Given the description of an element on the screen output the (x, y) to click on. 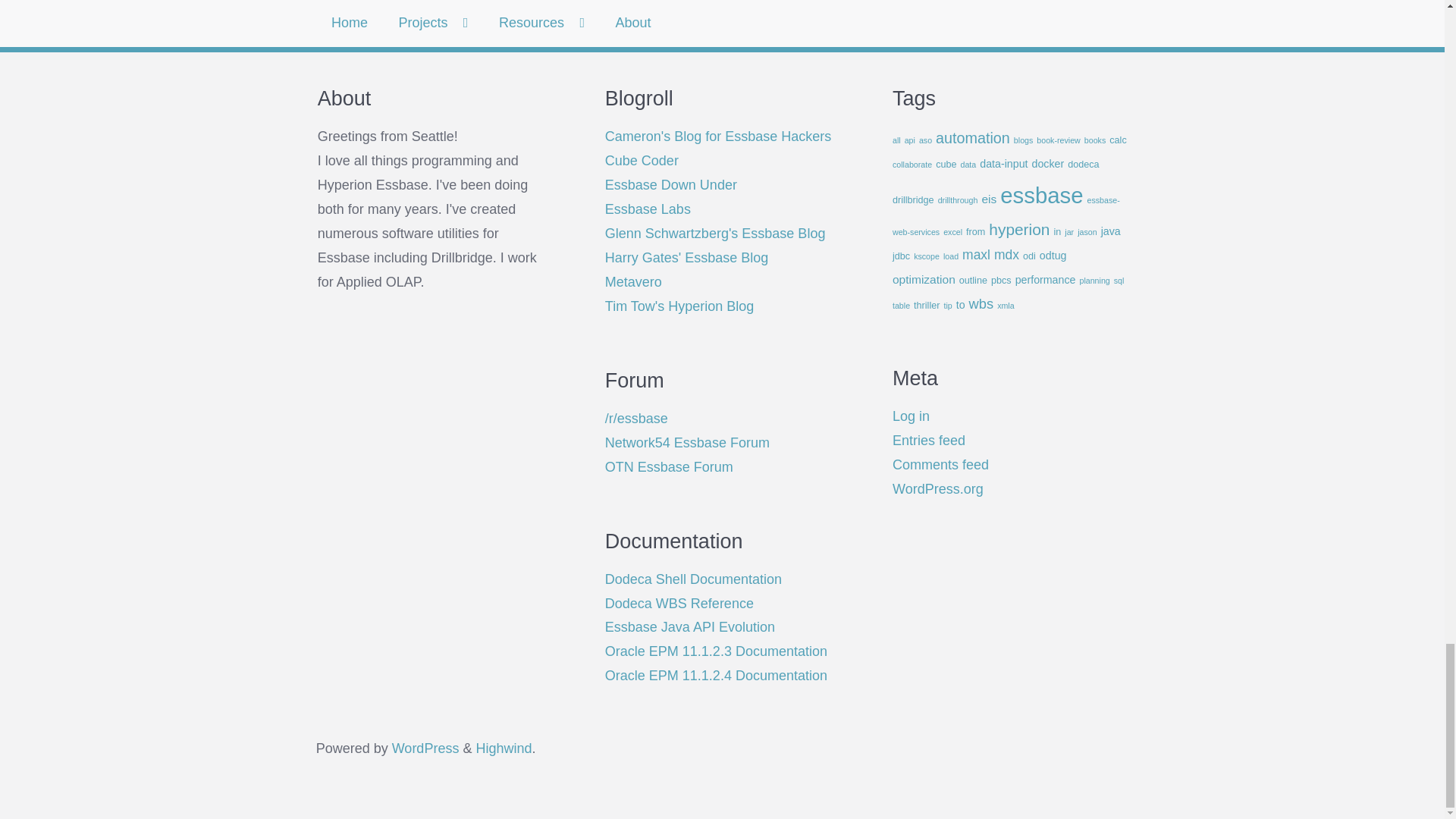
Oracle Essbase Forum (669, 467)
Dodeca Workbook Script Reference (679, 603)
WordPress.org (425, 748)
Dodeca Shell Getting Started Guide (693, 579)
Documentation for Oracle EPM version 11.1.2.4 (716, 675)
Cameron Lackpour (718, 136)
Highwind - Customisable and extendable WordPress theme (503, 748)
The Essbase Subreddit! (636, 418)
